Given the description of an element on the screen output the (x, y) to click on. 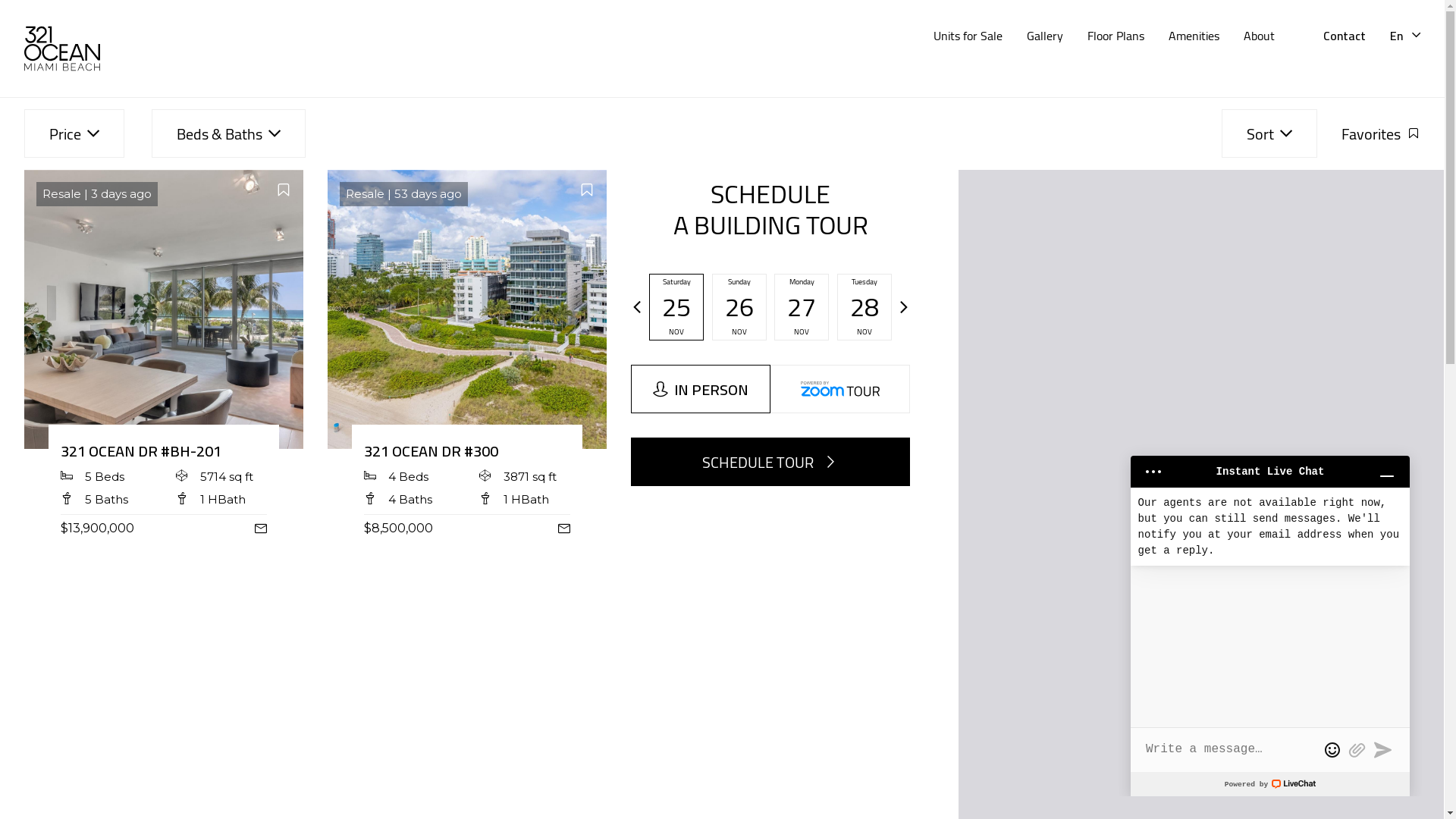
LiveChat chat widget Element type: hover (1269, 619)
Beds & Baths Element type: text (228, 133)
IN PERSON Element type: text (700, 388)
Amenities Element type: text (1193, 35)
SCHEDULE TOUR Element type: text (770, 461)
En Element type: text (1405, 35)
Floor Plans Element type: text (1115, 35)
About Element type: text (1258, 35)
Units for Sale Element type: text (967, 35)
Gallery Element type: text (1044, 35)
Contact Element type: text (1344, 35)
Price Element type: text (74, 133)
Sort Element type: text (1269, 133)
